Given the description of an element on the screen output the (x, y) to click on. 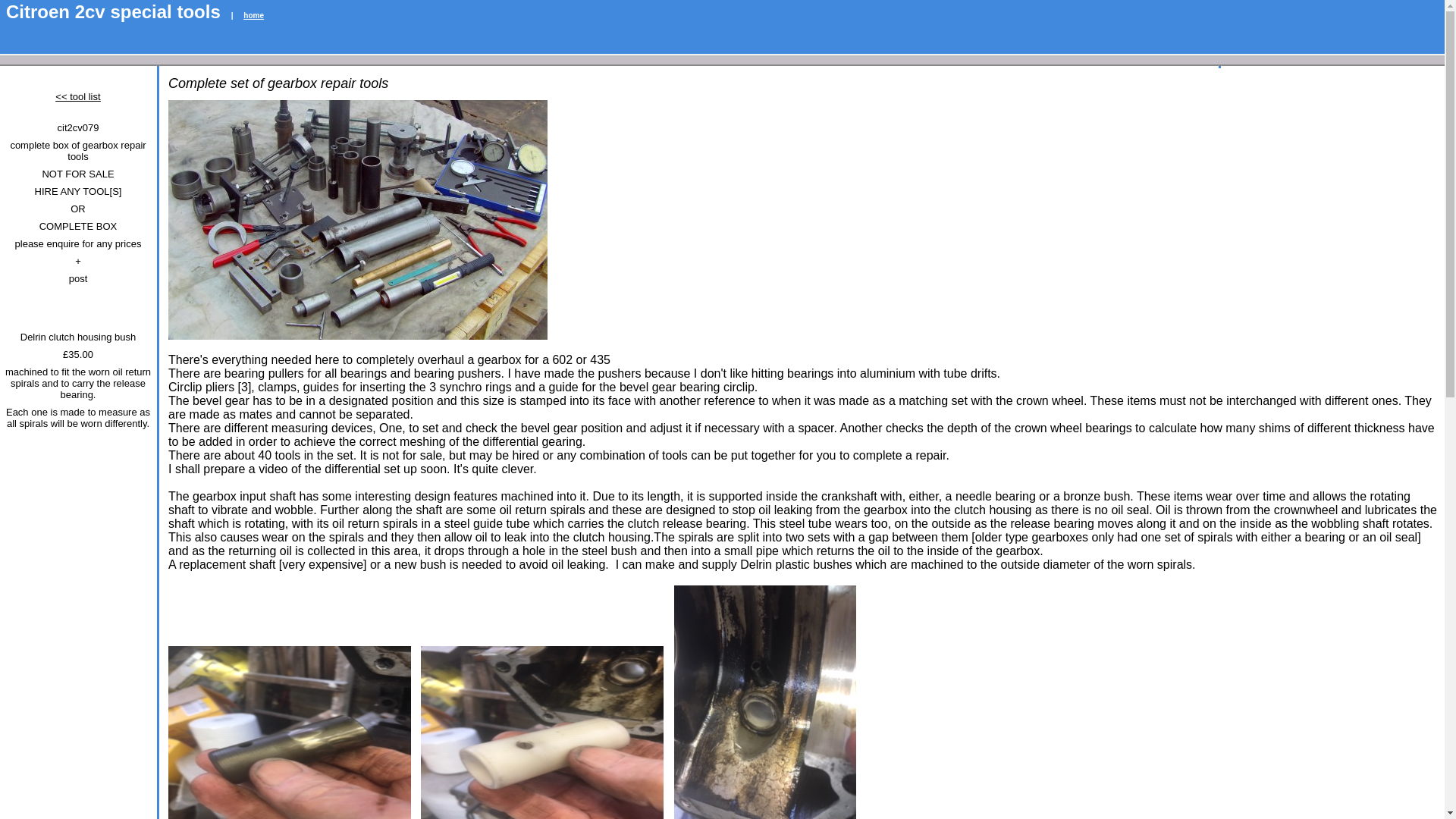
<< tool list Element type: text (77, 96)
home Element type: text (253, 15)
